Given the description of an element on the screen output the (x, y) to click on. 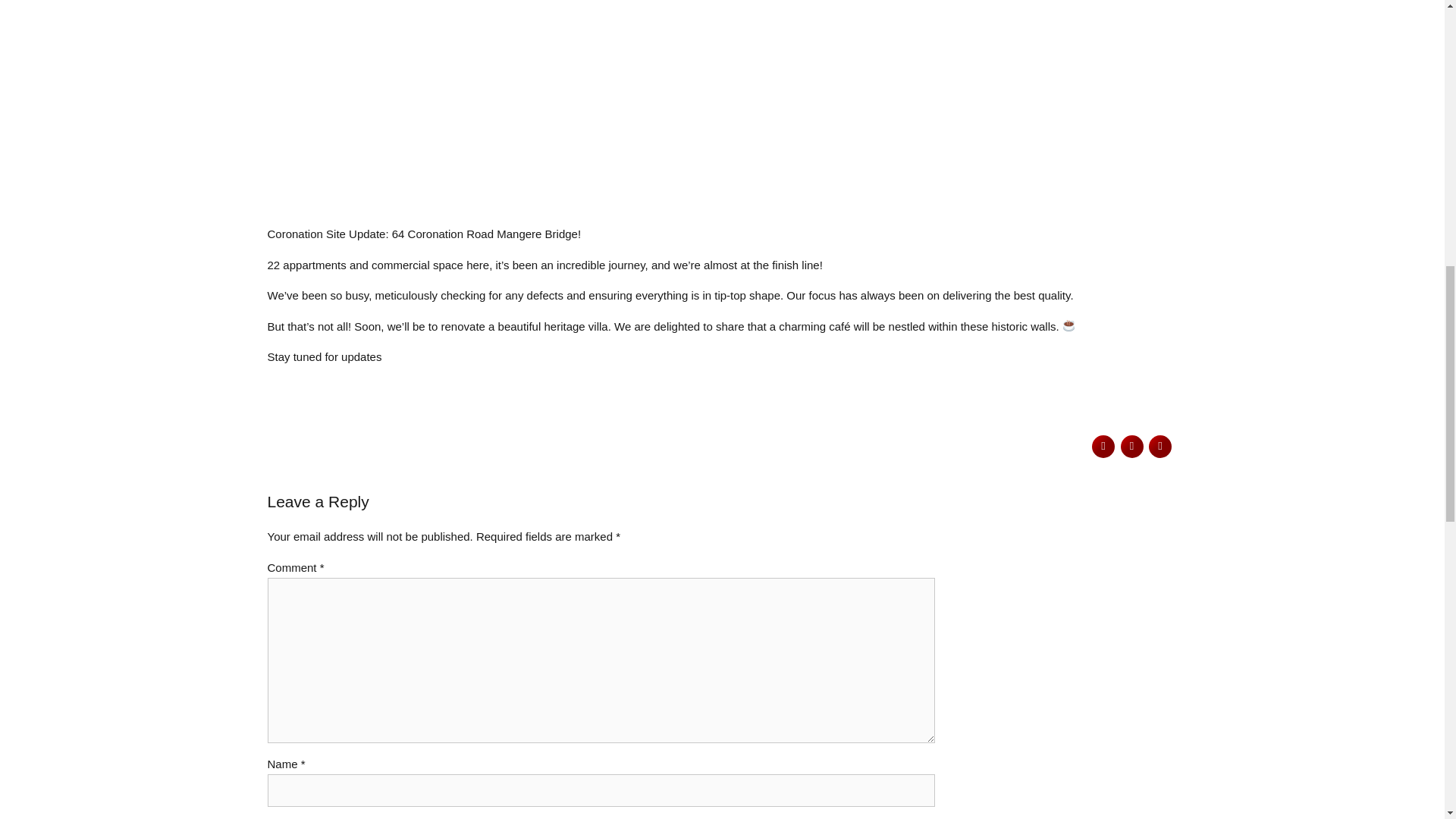
Share on Facebook (1103, 445)
Share on Twitter (1131, 445)
Share on Linkedin (1160, 445)
